Given the description of an element on the screen output the (x, y) to click on. 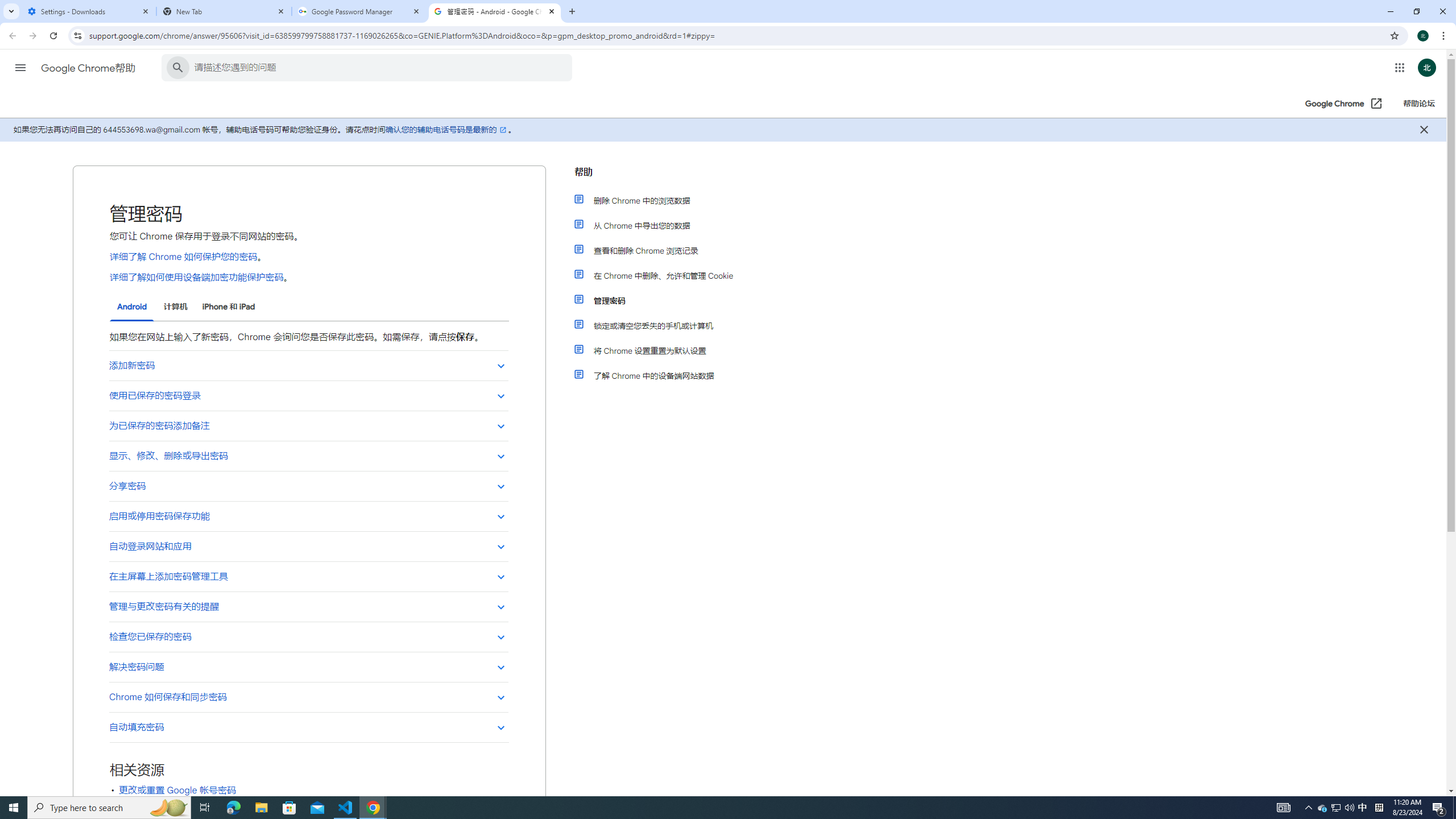
New Tab (224, 11)
Settings - Downloads (88, 11)
